Given the description of an element on the screen output the (x, y) to click on. 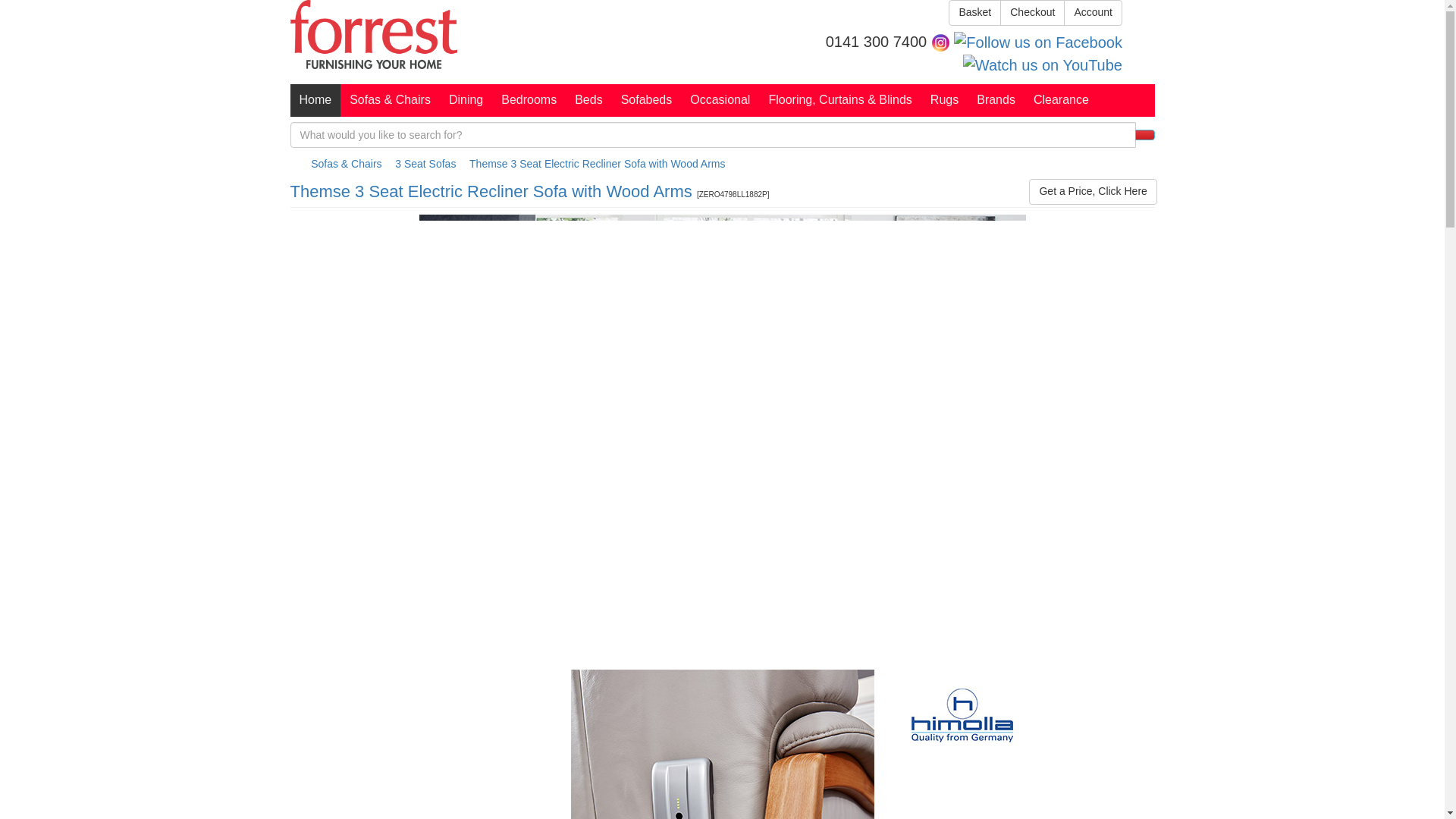
Account (1093, 12)
Home (314, 100)
Basket (975, 12)
Themse 3 Seat Electric Recliner Sofa with Wood Arms (596, 163)
Clearance (1061, 100)
Checkout (1032, 12)
Brands (996, 100)
Dining (465, 100)
Forrest Furnishing Glasgow's finest furniture store (373, 34)
3 Seat Sofas (424, 163)
